Given the description of an element on the screen output the (x, y) to click on. 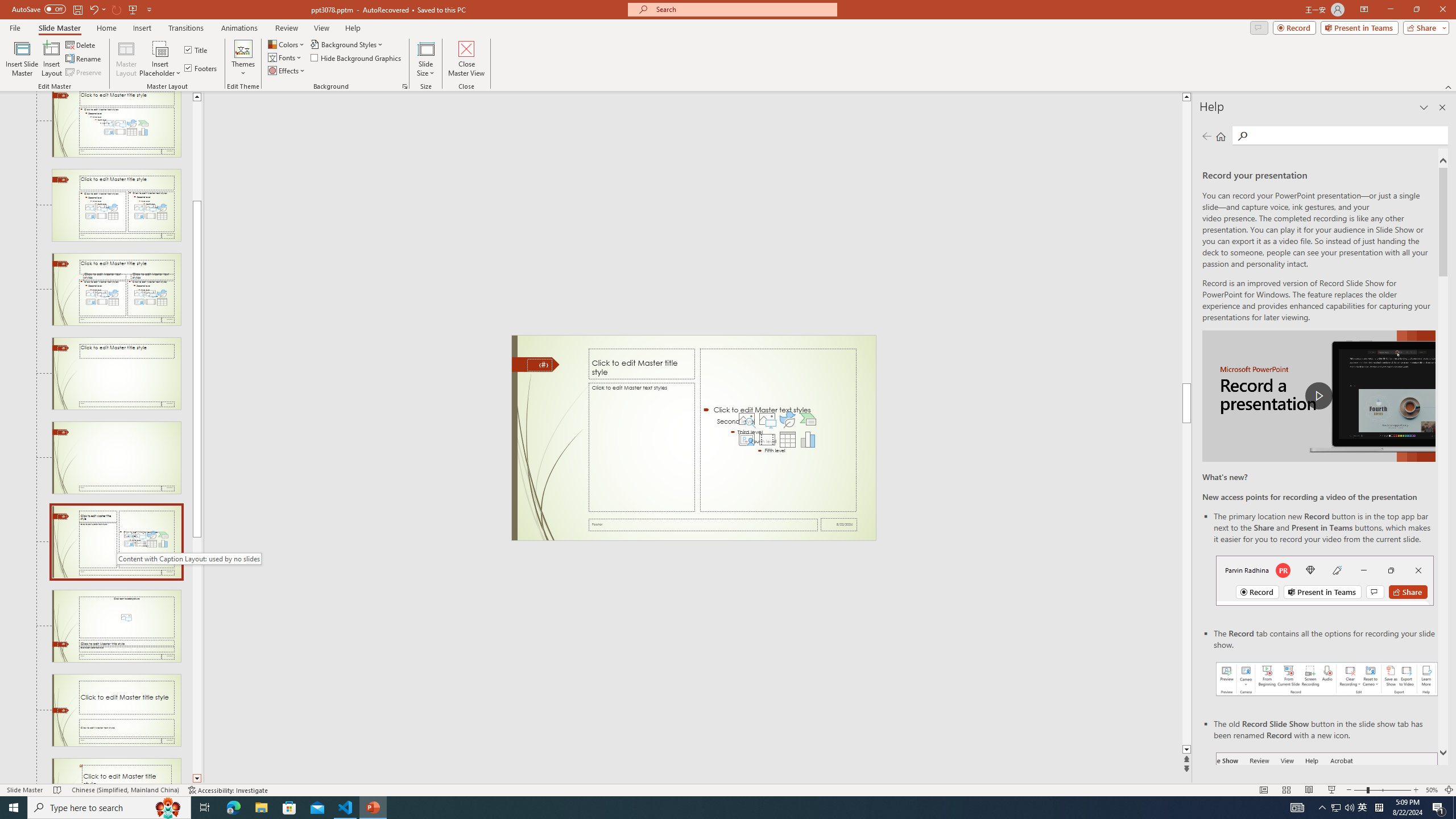
Title (196, 49)
Format Background... (404, 85)
Previous page (1206, 136)
TextBox (641, 446)
play Record a Presentation (1318, 395)
Slide Picture with Caption Layout: used by no slides (116, 625)
Slide Size (425, 58)
